Given the description of an element on the screen output the (x, y) to click on. 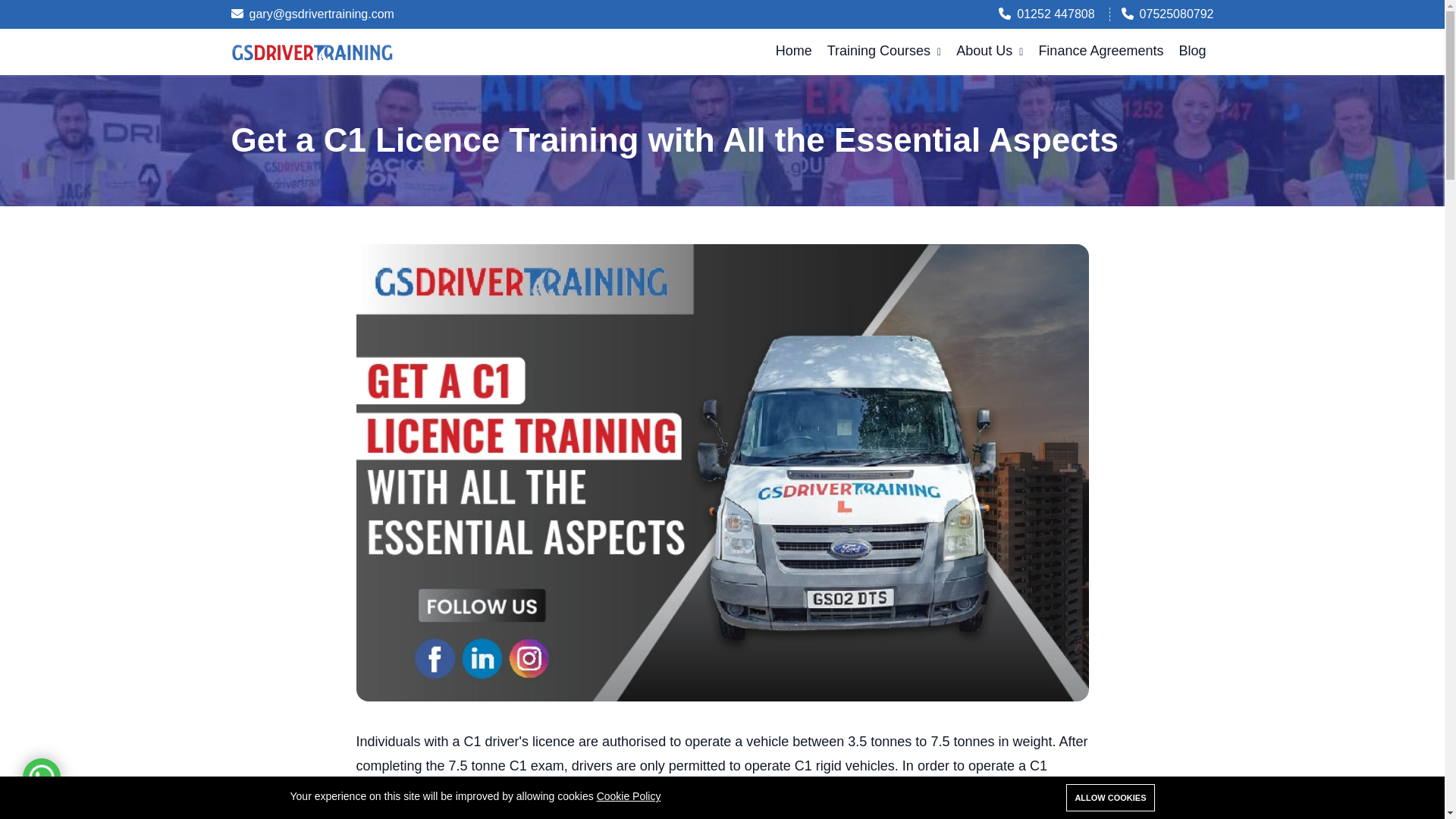
Blog (1191, 50)
07525080792 (1167, 14)
Training Courses (884, 50)
Home (793, 50)
01252 447808 (1046, 14)
About Us (989, 50)
Finance Agreements (1100, 50)
